Given the description of an element on the screen output the (x, y) to click on. 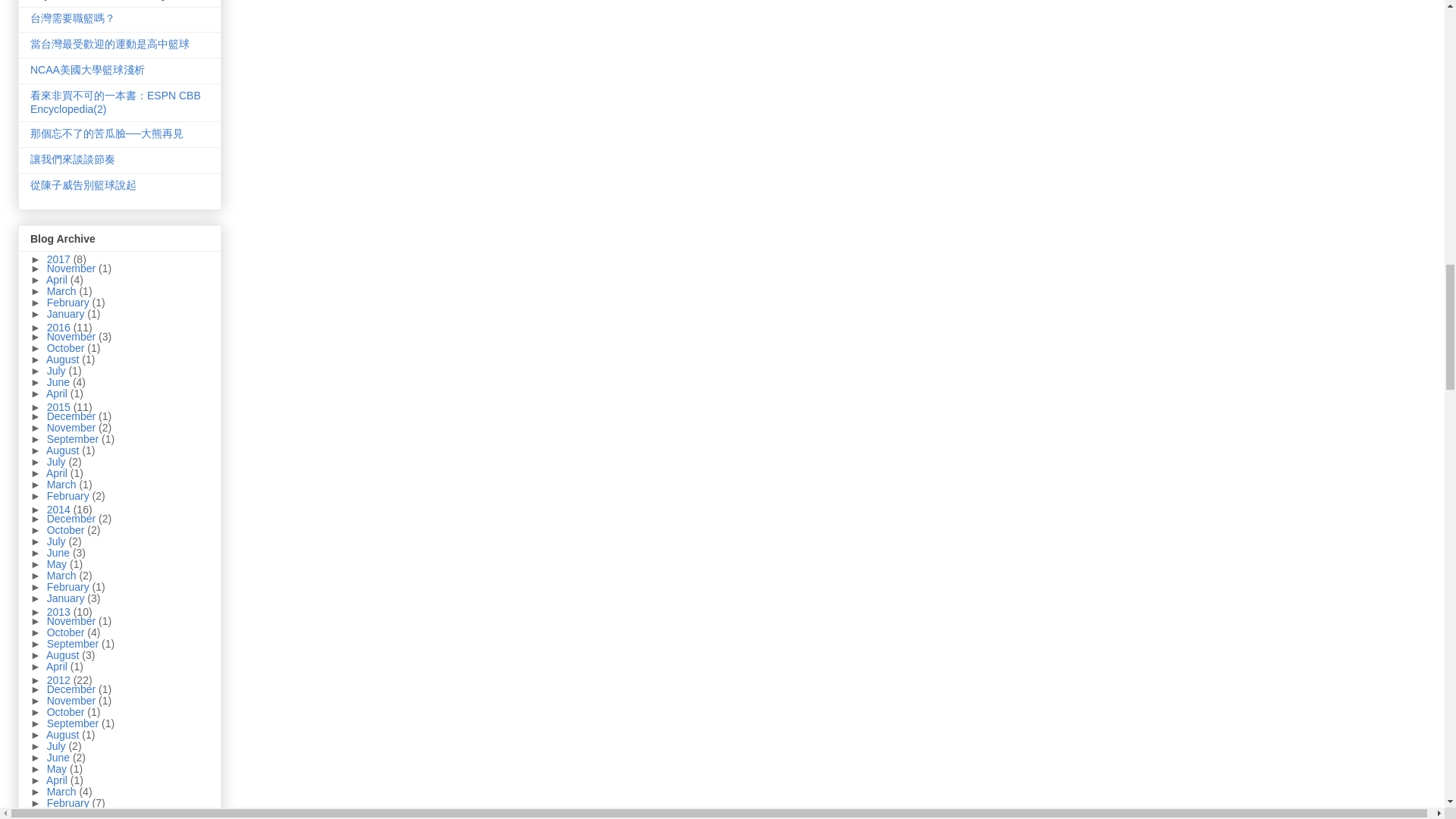
January (66, 313)
February (69, 302)
November (72, 336)
2016 (60, 327)
November (72, 268)
2017 (60, 259)
March (63, 291)
April (57, 279)
